Given the description of an element on the screen output the (x, y) to click on. 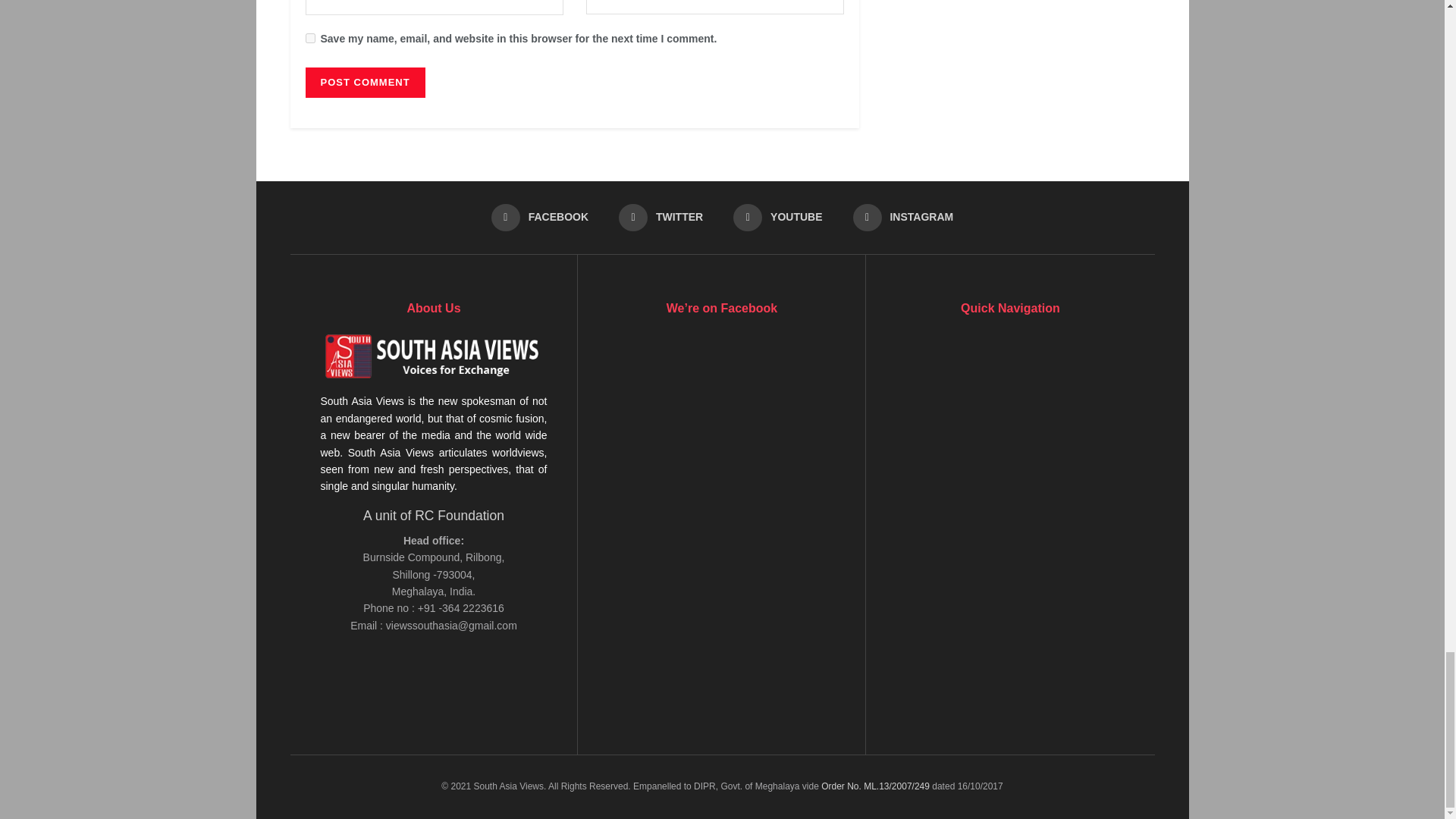
yes (309, 38)
Post Comment (364, 82)
